Given the description of an element on the screen output the (x, y) to click on. 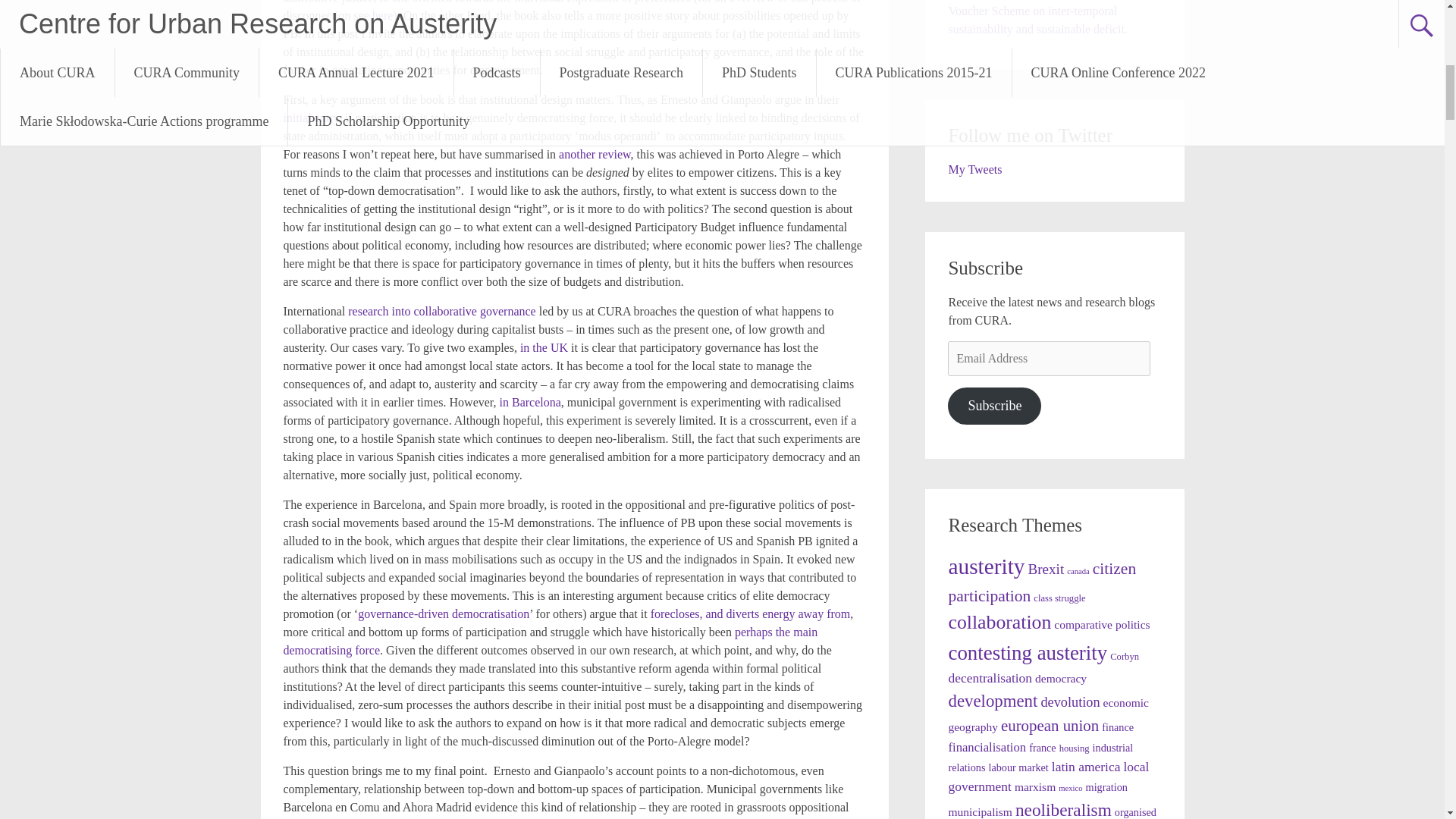
research into collaborative governance (441, 310)
in the UK (543, 347)
another review (594, 154)
here (382, 15)
initial entry (311, 117)
